Given the description of an element on the screen output the (x, y) to click on. 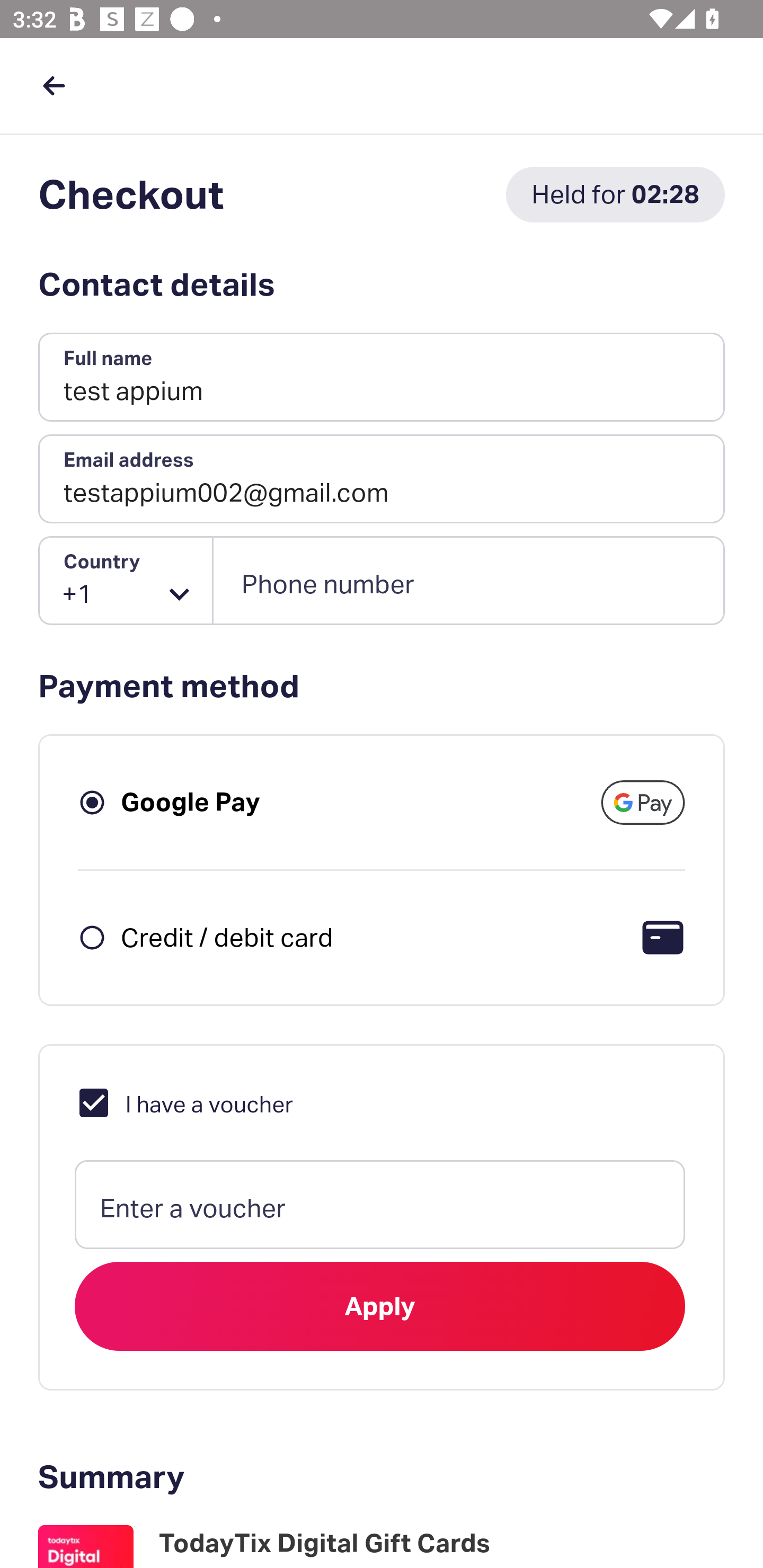
back button (53, 85)
test appium (381, 377)
testappium002@gmail.com (381, 478)
  +1 (126, 580)
Google Pay (190, 802)
Credit / debit card (227, 936)
I have a voucher (183, 1101)
